Given the description of an element on the screen output the (x, y) to click on. 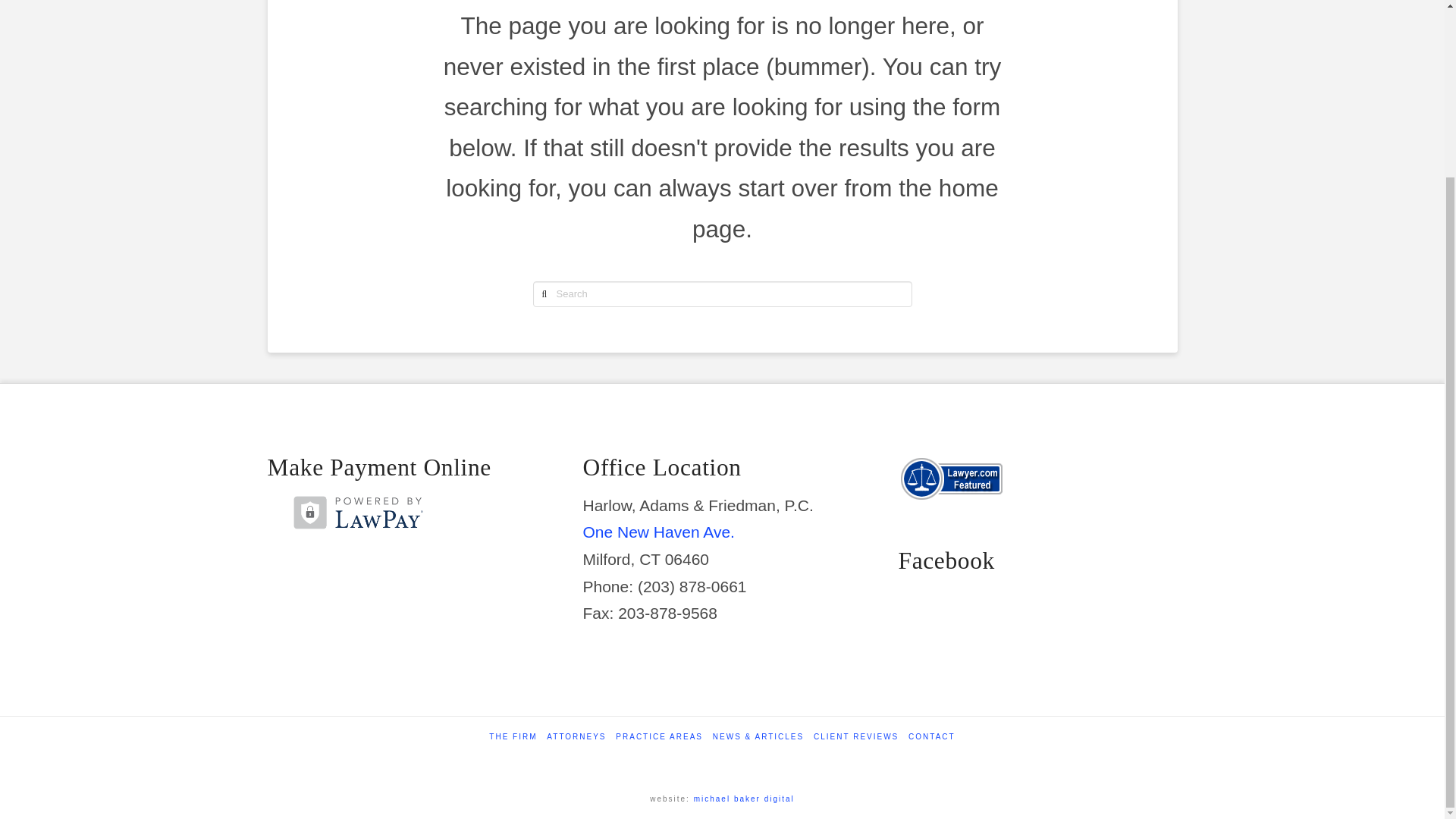
THE FIRM (513, 737)
One New Haven Ave. (657, 531)
michael baker digital (744, 798)
CLIENT REVIEWS (855, 737)
PRACTICE AREAS (659, 737)
CONTACT (931, 737)
ATTORNEYS (576, 737)
